Given the description of an element on the screen output the (x, y) to click on. 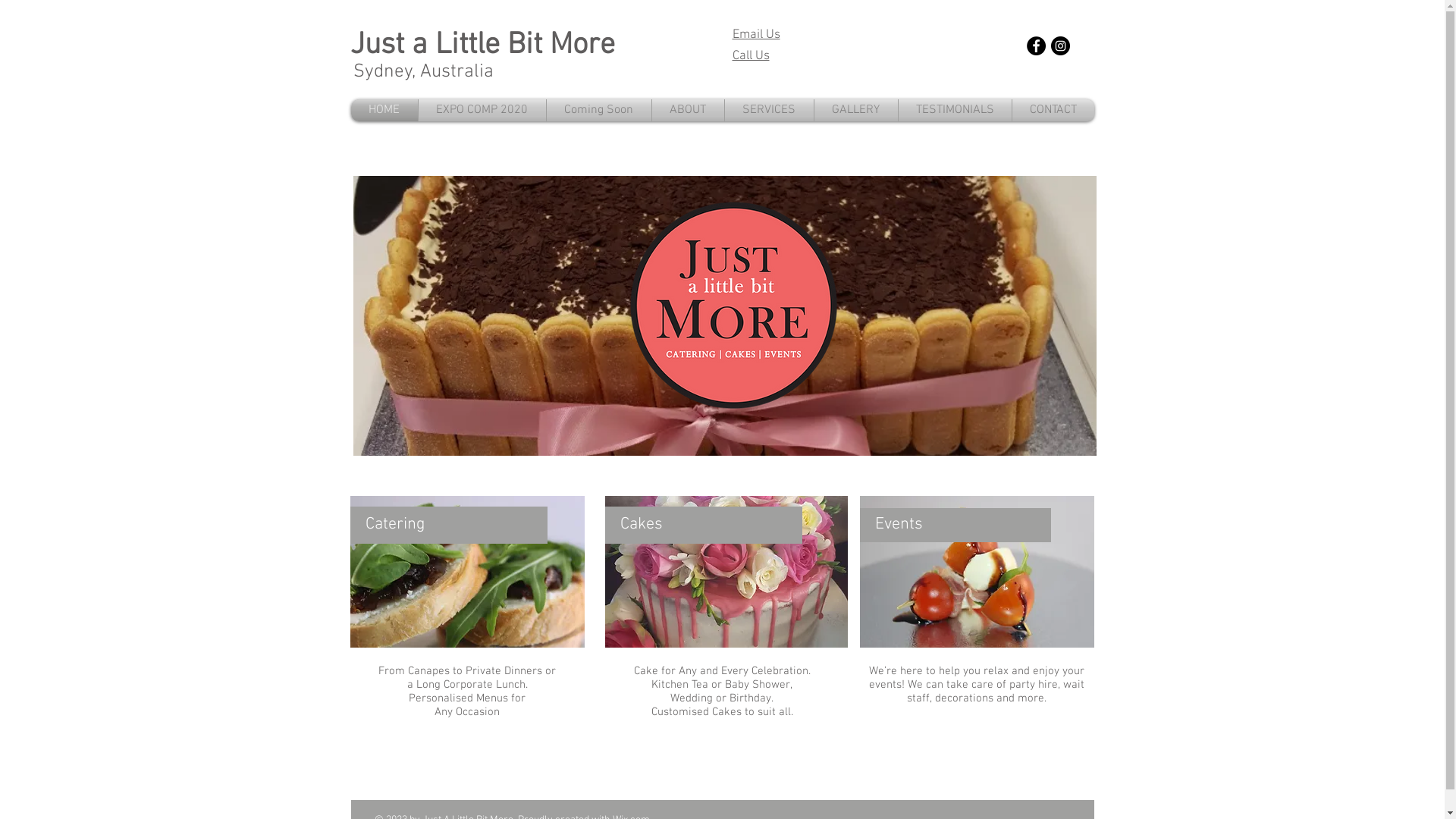
Just a Little Bit More Element type: text (482, 45)
Call Us Element type: text (750, 55)
IMG_7635.JPG Element type: hover (467, 571)
20160611_141158.jpg Element type: hover (726, 571)
SERVICES Element type: text (768, 110)
Coming Soon Element type: text (598, 110)
GALLERY Element type: text (855, 110)
EXPO COMP 2020 Element type: text (482, 110)
Email Us Element type: text (756, 34)
HOME Element type: text (383, 110)
IMG_7586.JPG Element type: hover (976, 571)
CONTACT Element type: text (1052, 110)
TESTIMONIALS Element type: text (953, 110)
ABOUT Element type: text (688, 110)
